Given the description of an element on the screen output the (x, y) to click on. 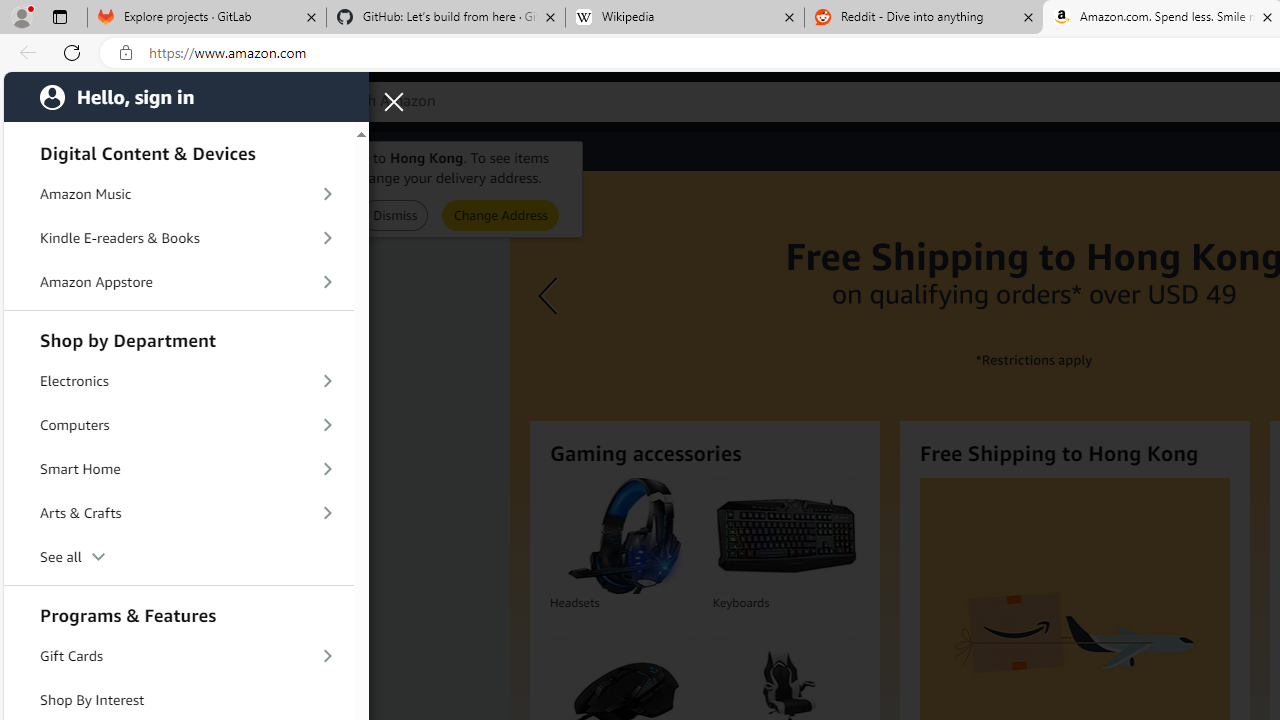
Amazon Music (178, 194)
